Given the description of an element on the screen output the (x, y) to click on. 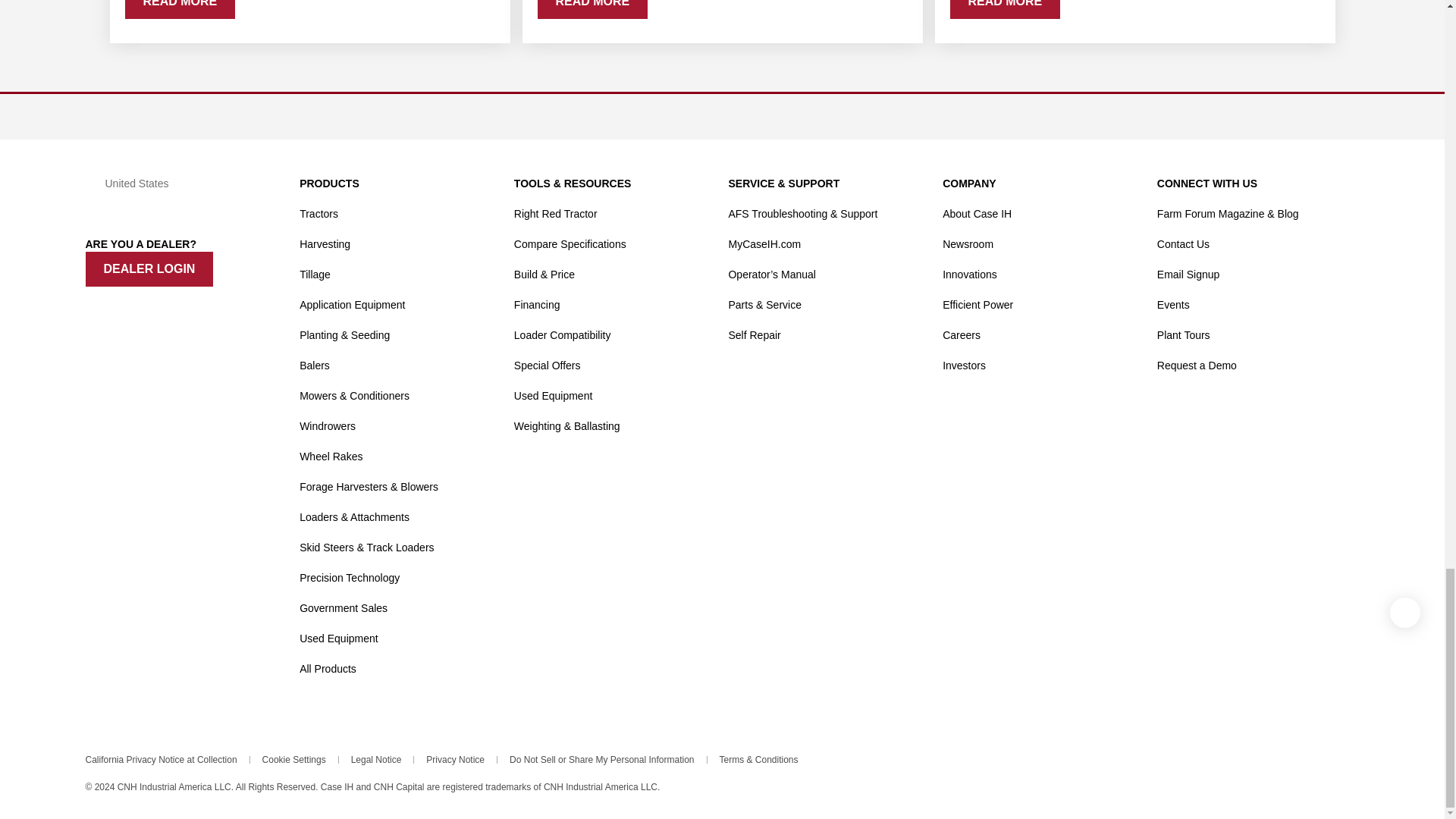
Loader Compatibility (562, 335)
Used Equipment (338, 638)
Used Equipment (552, 395)
READ MORE (1004, 9)
Precision Technology (348, 577)
Harvesting (324, 244)
Right Red Tractor (554, 214)
Compare Specifications (569, 244)
READ MORE (592, 9)
Financing (536, 304)
Tractors (318, 214)
DEALER LOGIN (148, 268)
Government Sales (343, 607)
United States (185, 183)
Windrowers (327, 426)
